Given the description of an element on the screen output the (x, y) to click on. 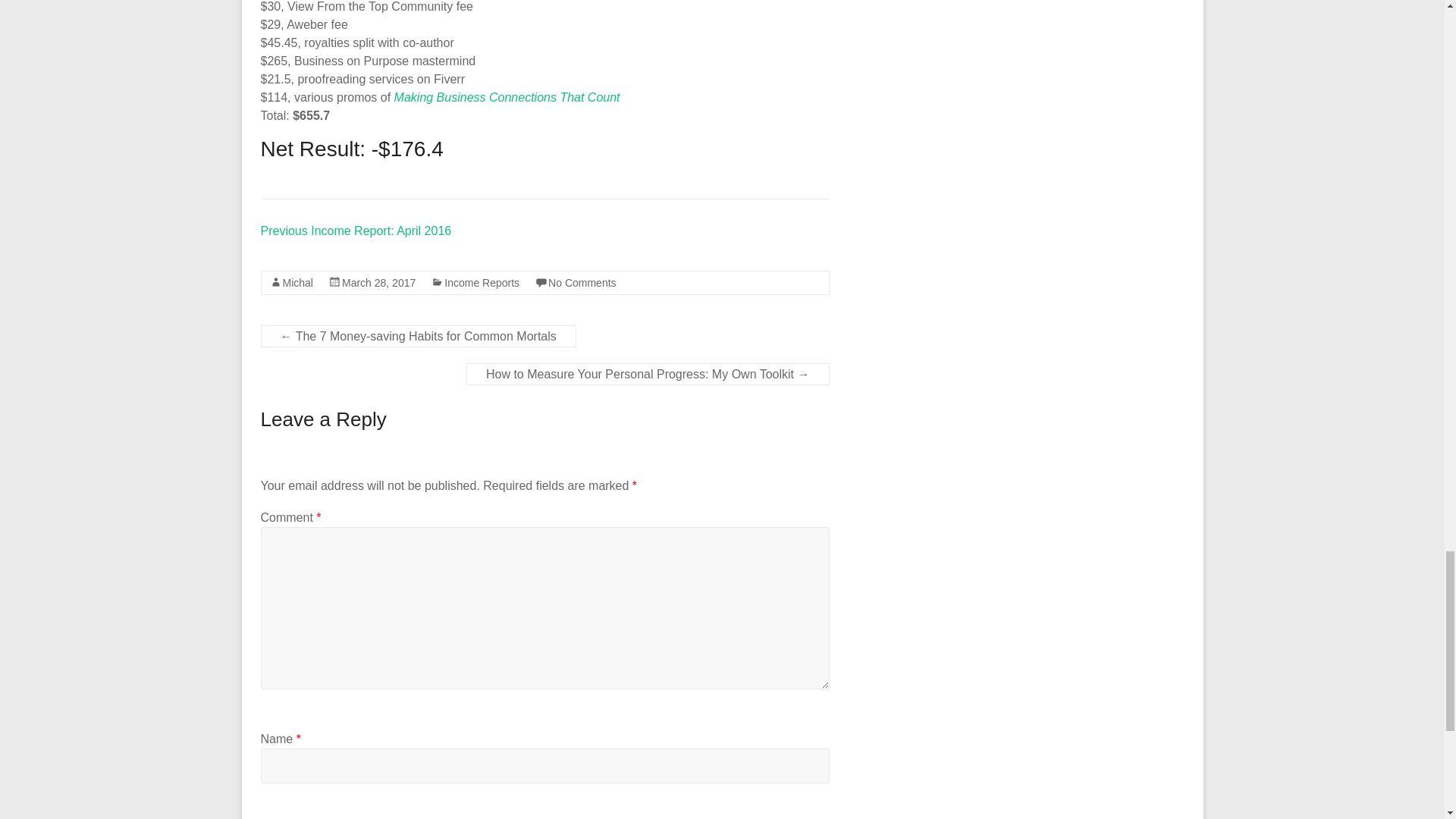
Making Business Connections That Count (507, 97)
37th Income Report - April 2016 (355, 230)
Previous Income Report: April 2016 (355, 230)
